Given the description of an element on the screen output the (x, y) to click on. 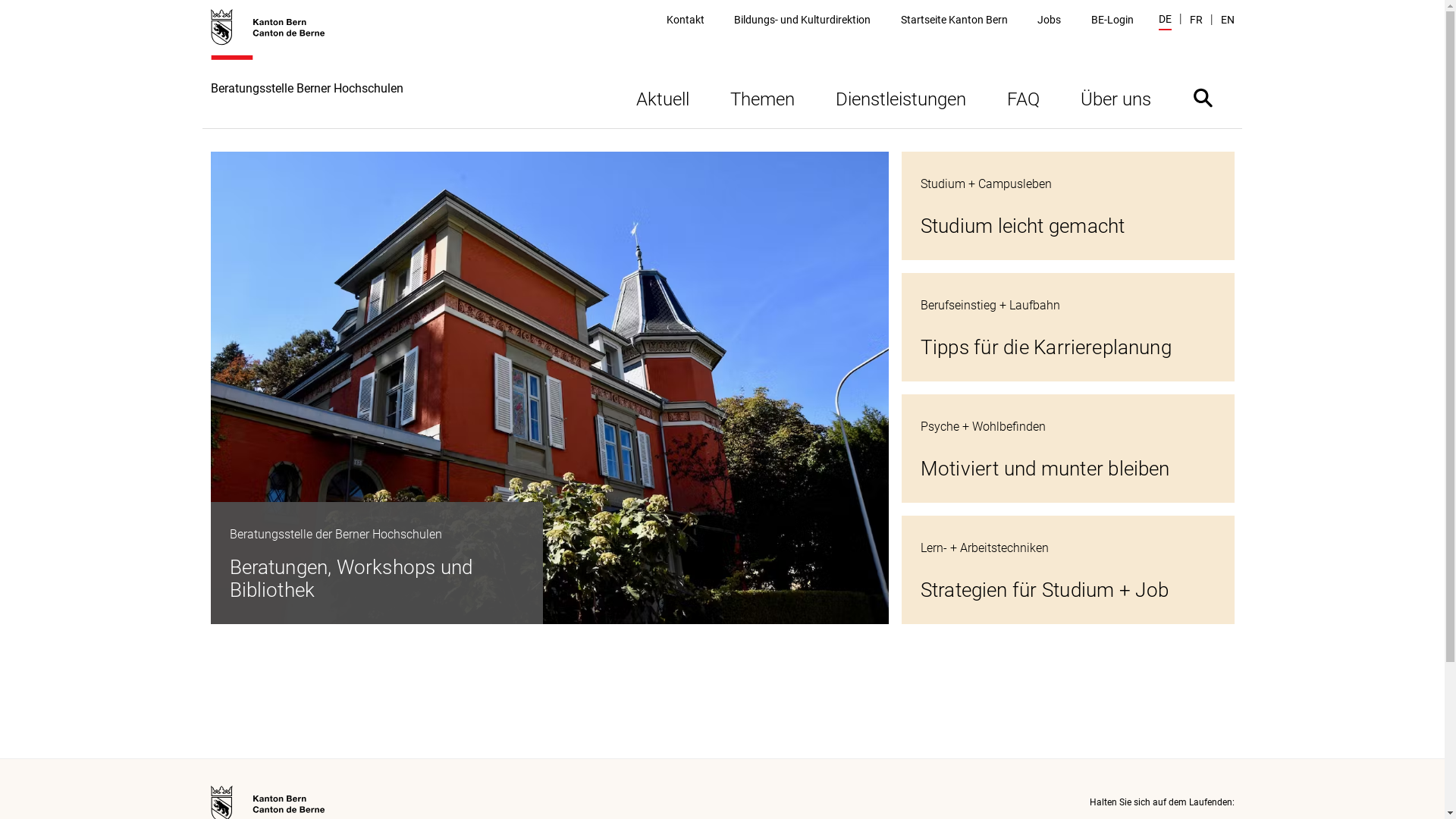
Dienstleistungen Element type: text (899, 96)
EN Element type: text (1227, 19)
BE-Login Element type: text (1112, 19)
Suche ein- oder ausblenden Element type: text (1201, 96)
Motiviert und munter bleiben
Psyche + Wohlbefinden Element type: text (1067, 448)
Kontakt Element type: text (685, 19)
Studium leicht gemacht
Studium + Campusleben Element type: text (1067, 205)
FAQ Element type: text (1022, 96)
Beratungsstelle Berner Hochschulen Element type: text (306, 68)
FR Element type: text (1195, 19)
DE Element type: text (1164, 21)
Themen Element type: text (762, 96)
Bildungs- und Kulturdirektion Element type: text (802, 19)
Startseite Kanton Bern Element type: text (953, 19)
Jobs Element type: text (1048, 19)
Aktuell Element type: text (662, 96)
